Given the description of an element on the screen output the (x, y) to click on. 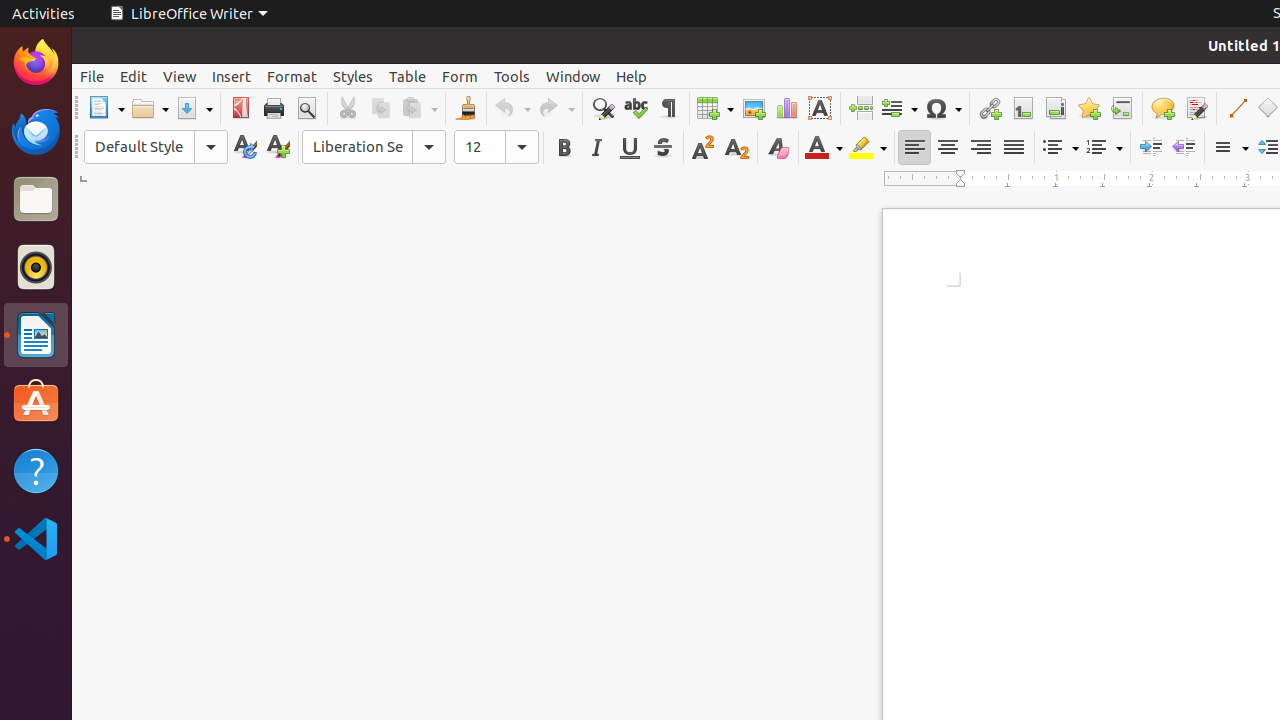
Numbering Element type: push-button (1104, 147)
Trash Element type: label (133, 191)
Visual Studio Code Element type: push-button (36, 538)
Help Element type: menu (631, 76)
Rhythmbox Element type: push-button (36, 267)
